Given the description of an element on the screen output the (x, y) to click on. 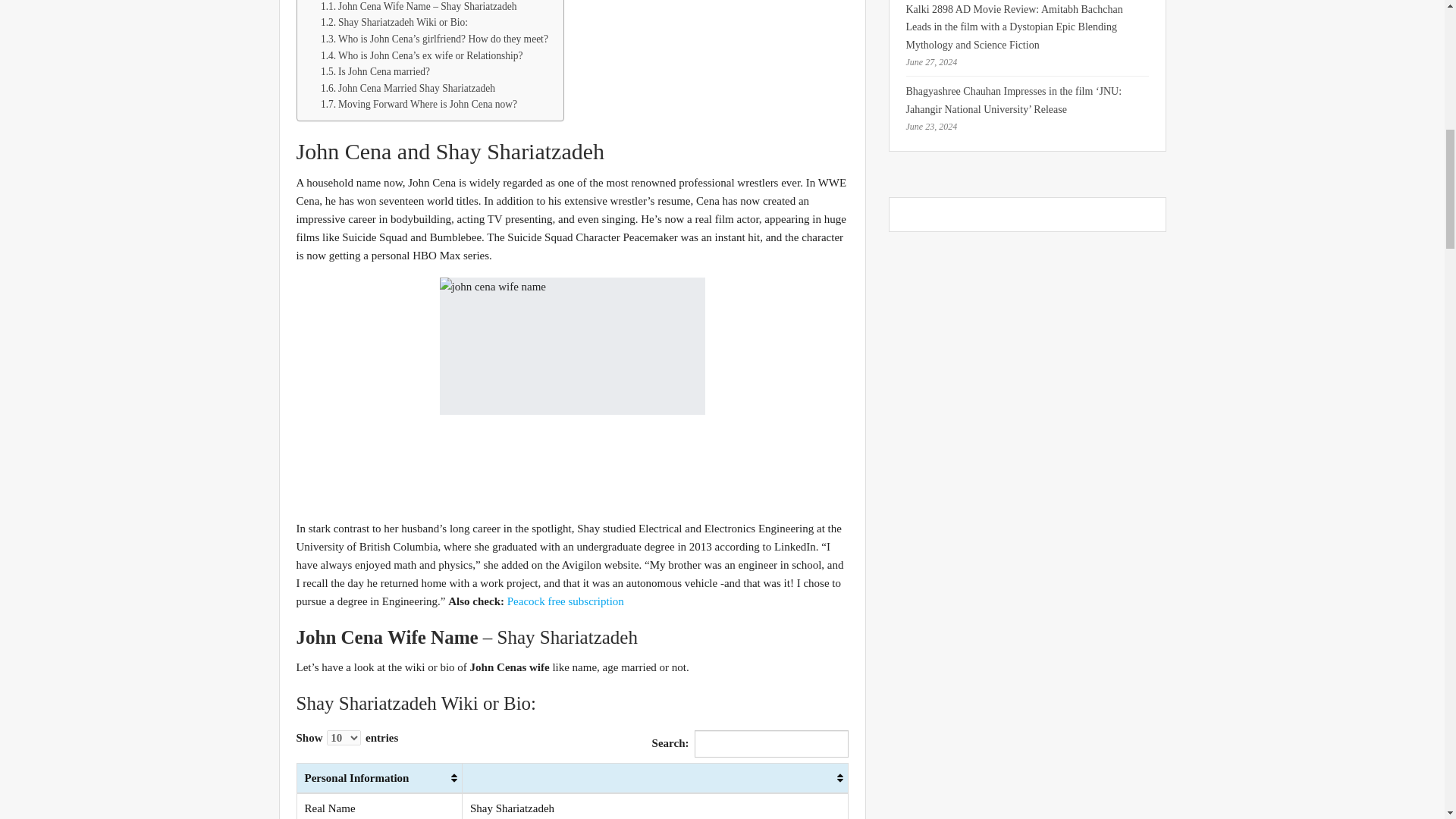
Is John Cena married? (374, 71)
Moving Forward Where is John Cena now? (418, 104)
Shay Shariatzadeh Wiki or Bio: (393, 22)
John Cena Married Shay Shariatzadeh (407, 88)
